Given the description of an element on the screen output the (x, y) to click on. 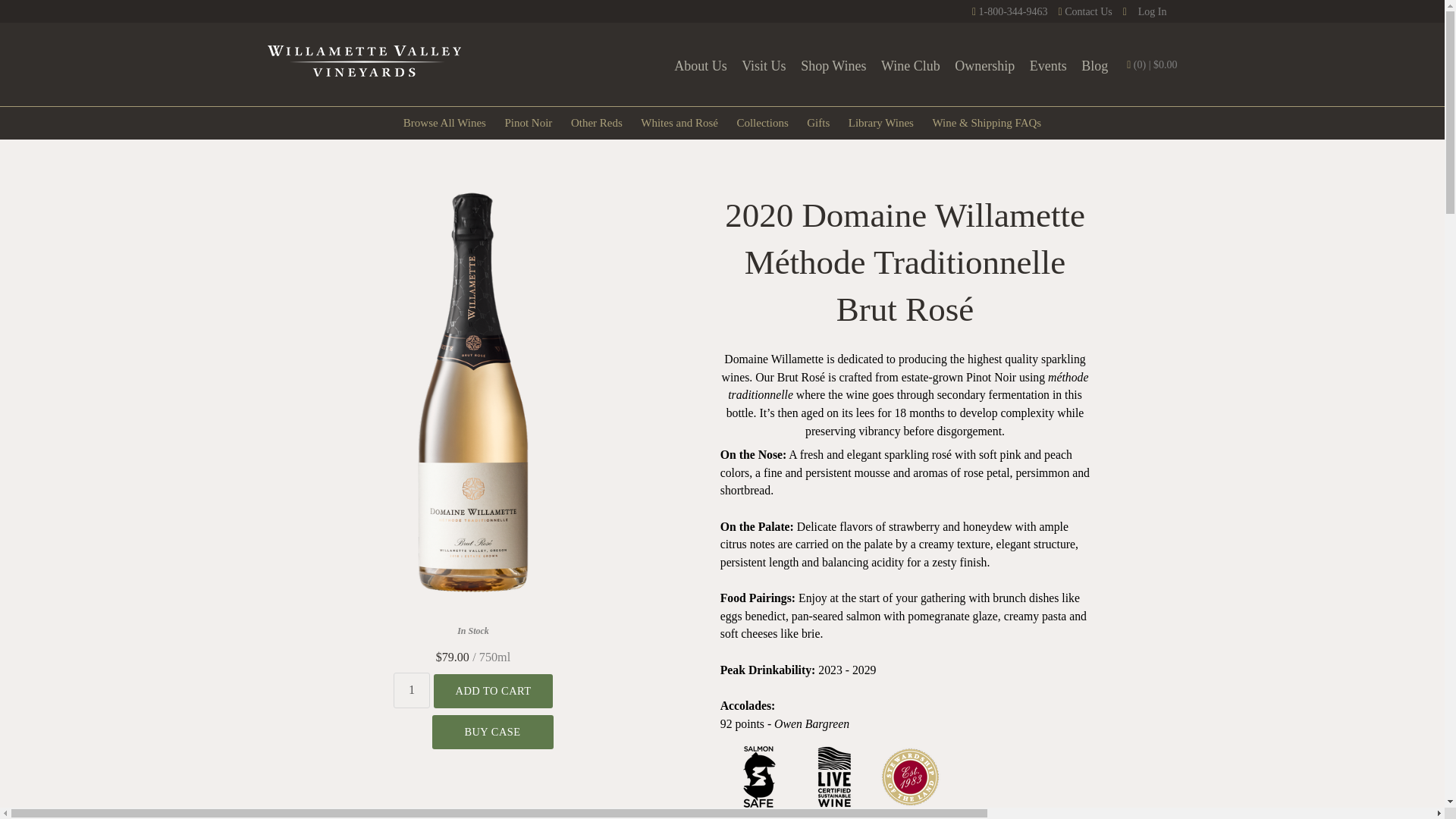
Stewardship (909, 809)
Willamette Valley Vineyards (363, 61)
1 (411, 690)
Salmon Safe (758, 809)
Live Certified (834, 809)
Log In (1144, 11)
1-800-344-9463 (1010, 11)
 Contact Us (1085, 11)
